Given the description of an element on the screen output the (x, y) to click on. 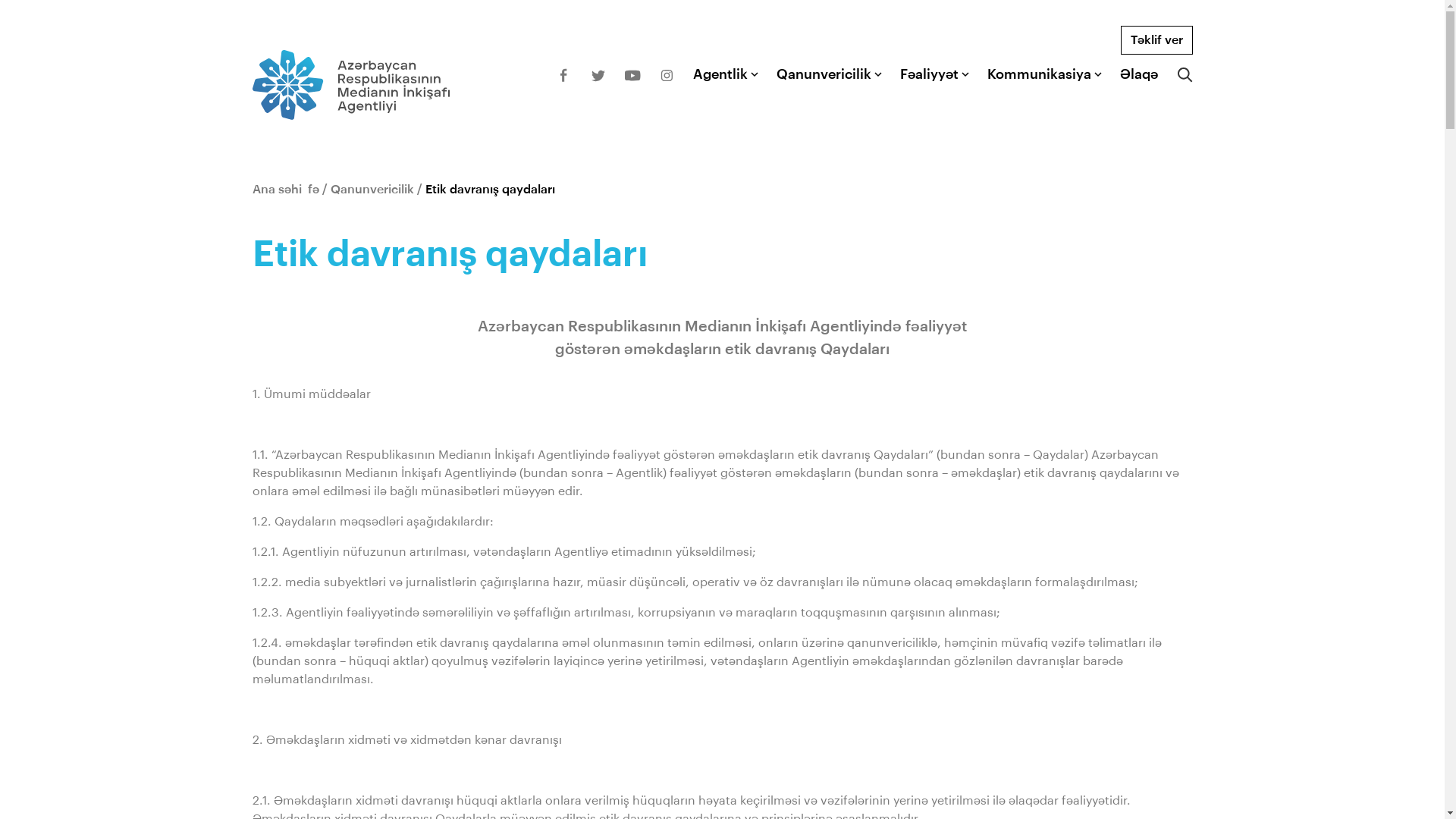
Kommunikasiya Element type: text (1039, 74)
Qanunvericilik Element type: text (372, 189)
Qanunvericilik Element type: text (823, 74)
Agentlik Element type: text (720, 74)
